Given the description of an element on the screen output the (x, y) to click on. 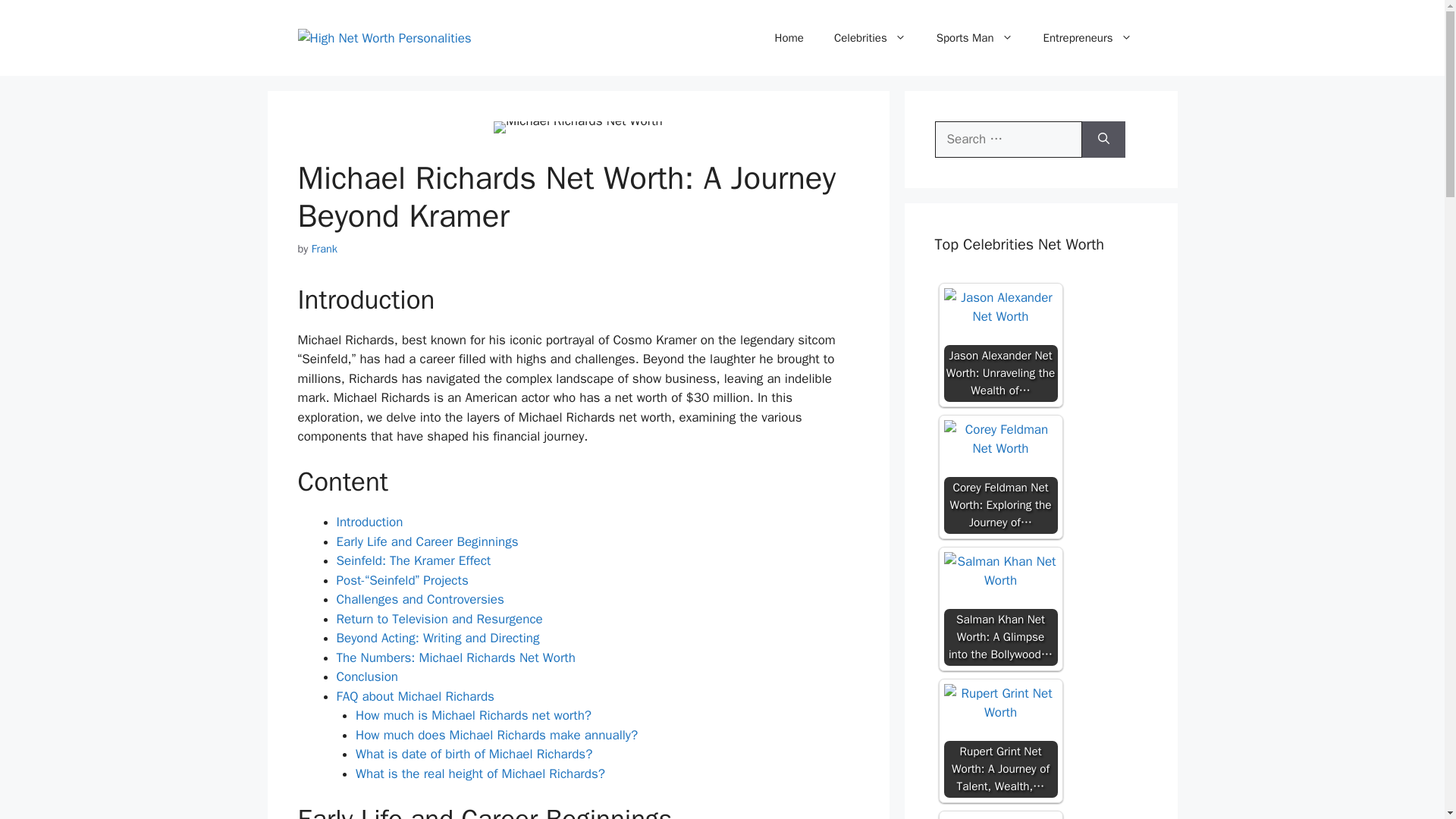
Beyond Acting: Writing and Directing (438, 637)
Home (789, 37)
Celebrities (869, 37)
Challenges and Controversies (419, 599)
Entrepreneurs (1087, 37)
Sports Man (974, 37)
Seinfeld: The Kramer Effect (414, 560)
Frank (324, 248)
Return to Television and Resurgence (439, 618)
Introduction (369, 521)
Early Life and Career Beginnings (427, 541)
Michael Richards Net Worth (577, 127)
The Numbers: Michael Richards Net Worth (455, 657)
View all posts by Frank (324, 248)
